Given the description of an element on the screen output the (x, y) to click on. 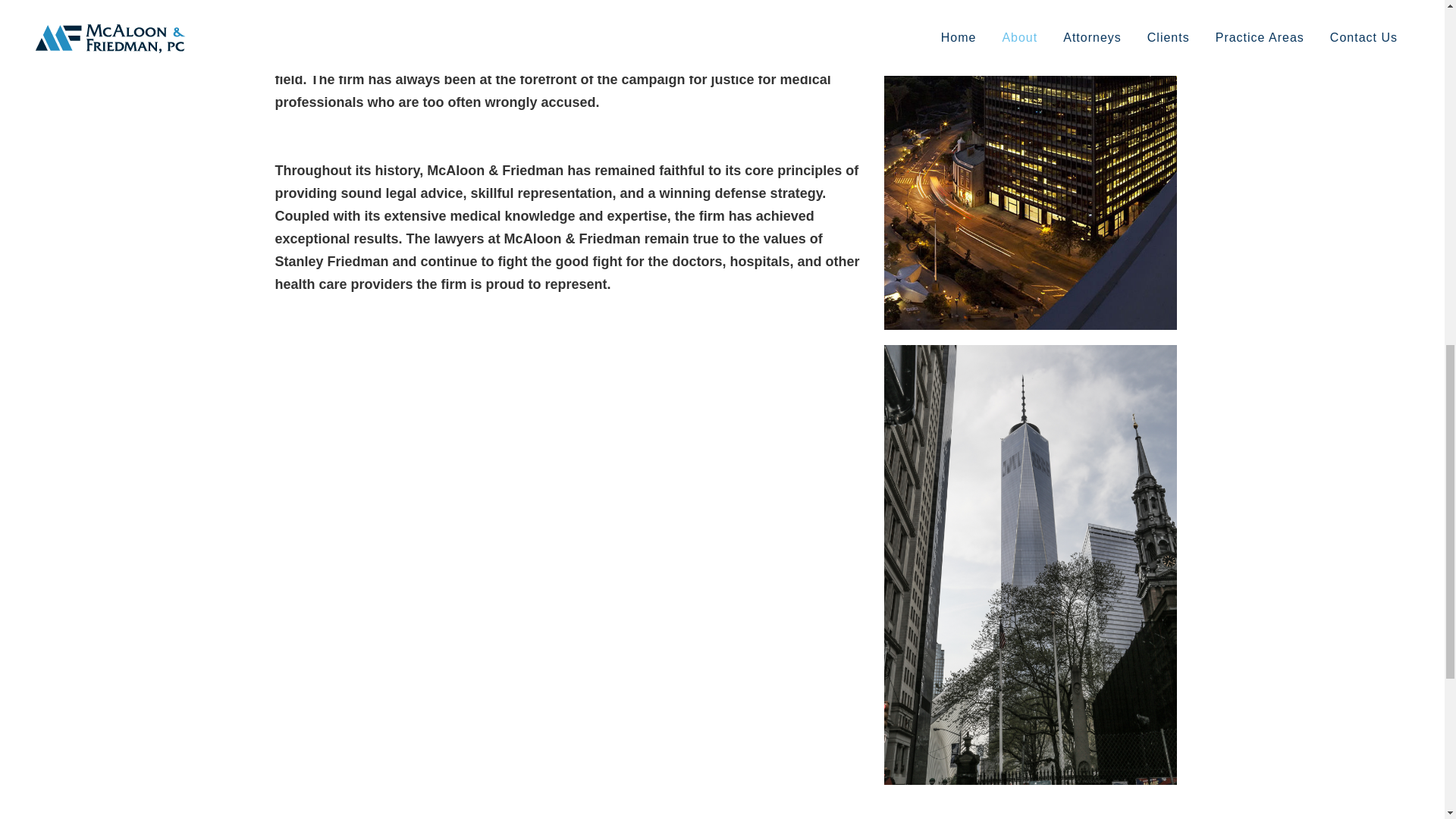
4A9A1531 (1030, 564)
1 State St (1030, 165)
